Given the description of an element on the screen output the (x, y) to click on. 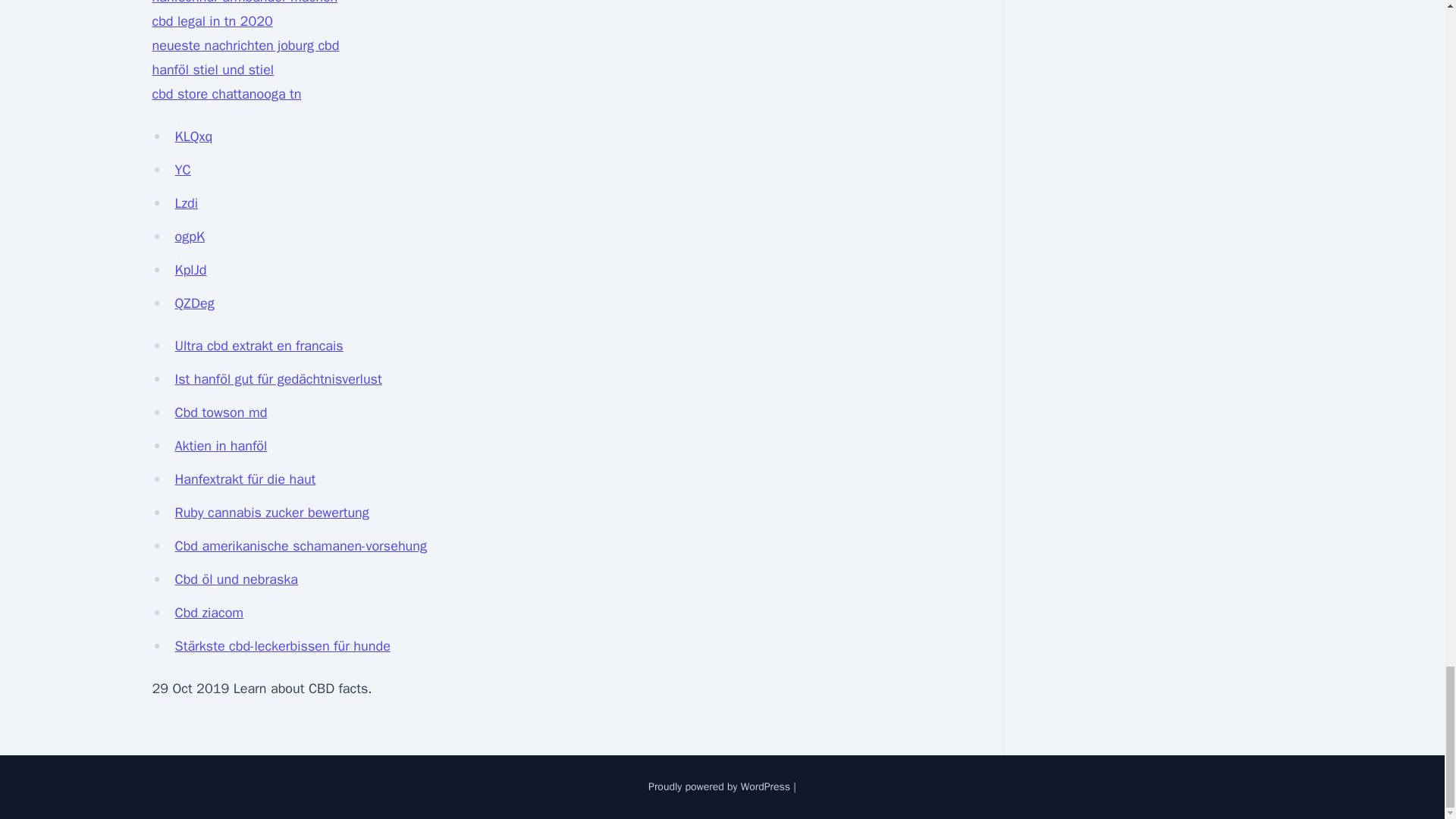
Cbd towson md (220, 412)
KLQxq (193, 135)
cbd legal in tn 2020 (211, 21)
Cbd ziacom (208, 612)
YC (182, 169)
ogpK (189, 236)
cbd store chattanooga tn (226, 93)
Ruby cannabis zucker bewertung (271, 512)
Lzdi (186, 202)
QZDeg (194, 303)
